Given the description of an element on the screen output the (x, y) to click on. 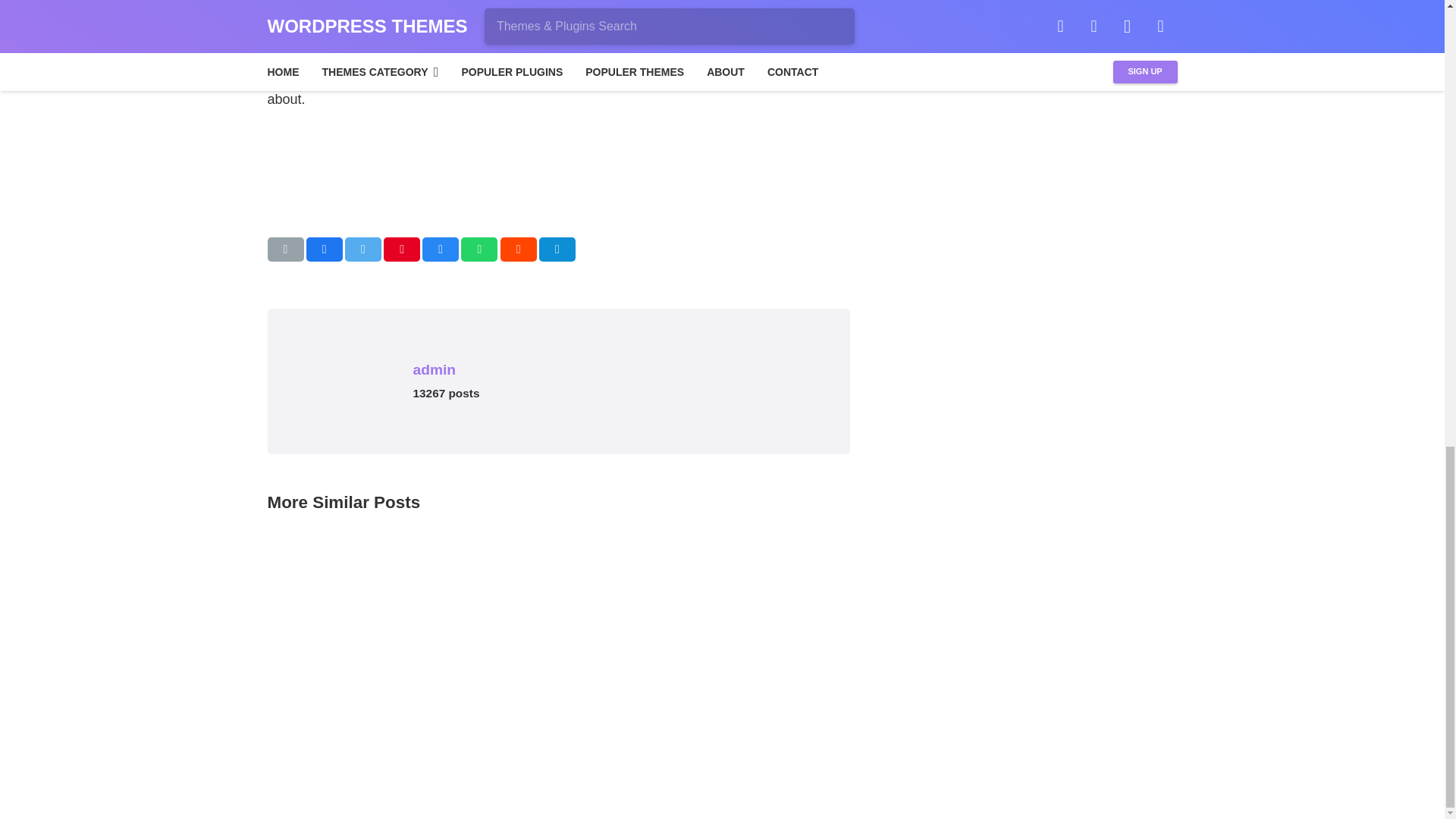
Share this (323, 249)
Share this (556, 249)
Share this (518, 249)
Email this (284, 249)
Share this (440, 249)
Share this (479, 249)
Pin this (402, 249)
Tweet this (363, 249)
